Given the description of an element on the screen output the (x, y) to click on. 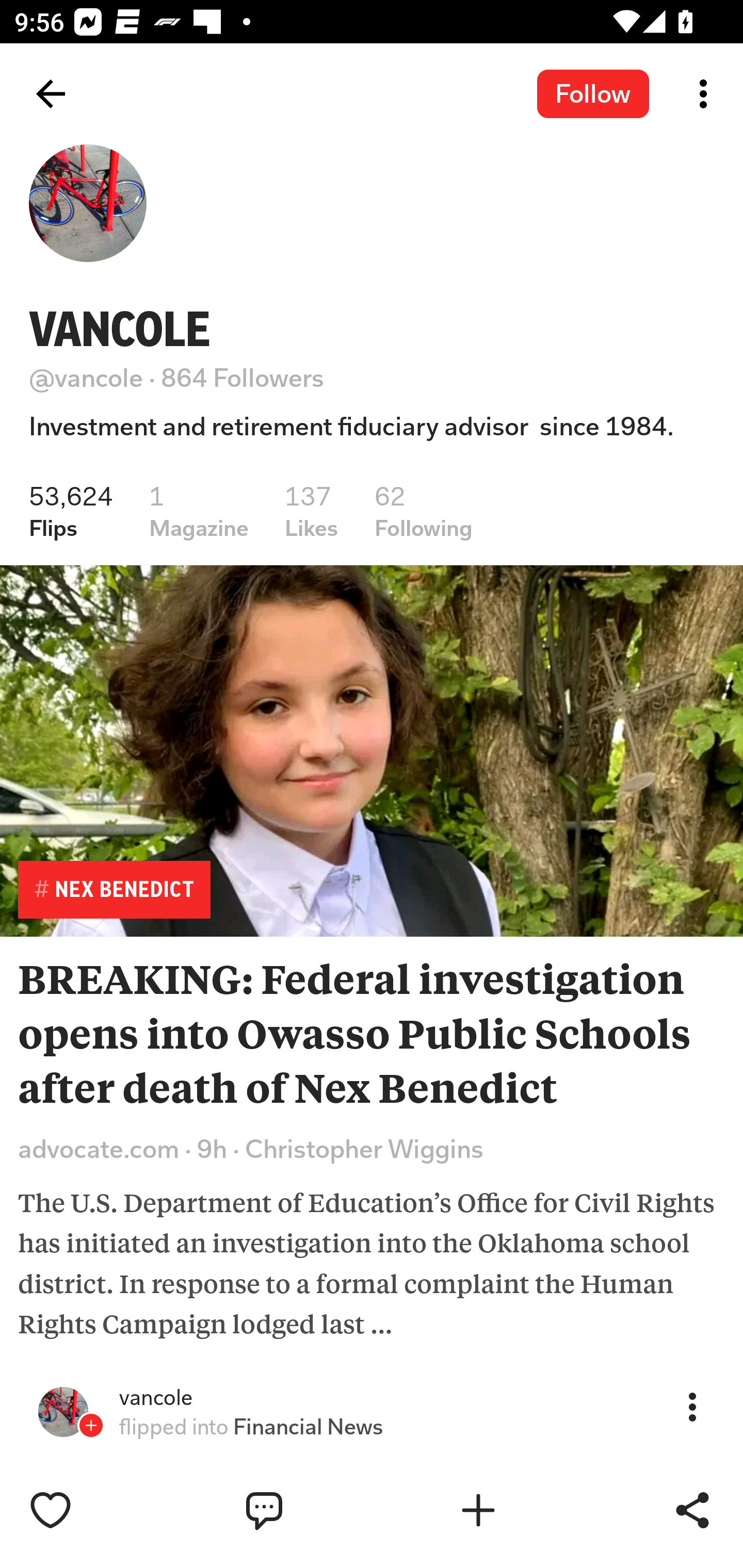
Back (50, 93)
More options (706, 93)
Follow (593, 92)
VANCOLE (119, 328)
@vancole (85, 377)
864 Followers (242, 377)
53,624 Flips (70, 510)
1 Magazine (198, 510)
137 Likes (311, 510)
62 Following (423, 510)
# NEX BENEDICT (113, 889)
More (692, 1406)
vancole (155, 1397)
flipped into Financial News (250, 1426)
Like (93, 1509)
Write a comment… (307, 1509)
Flip into Magazine (521, 1509)
Share (692, 1509)
